Given the description of an element on the screen output the (x, y) to click on. 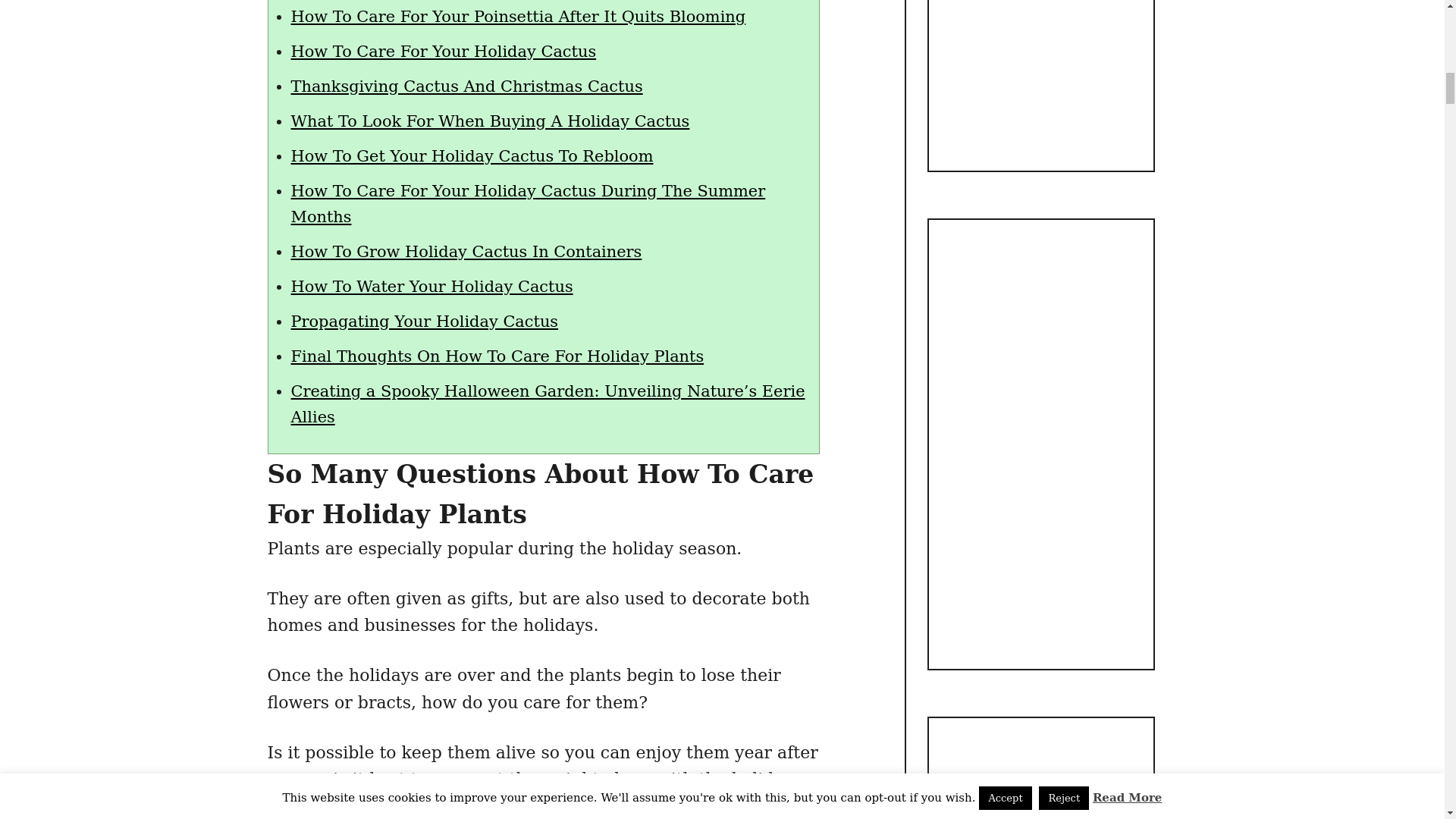
Final Thoughts On How To Care For Holiday Plants (497, 356)
How To Water Your Holiday Cactus (432, 286)
How To Care For Your Holiday Cactus (443, 51)
Thanksgiving Cactus And Christmas Cactus (467, 85)
What To Look For When Buying A Holiday Cactus (490, 121)
How To Care For Your Poinsettia After It Quits Blooming (518, 16)
How To Care For Your Holiday Cactus During The Summer Months (528, 203)
How To Grow Holiday Cactus In Containers (466, 251)
How To Get Your Holiday Cactus To Rebloom (472, 156)
Propagating Your Holiday Cactus (425, 321)
